Given the description of an element on the screen output the (x, y) to click on. 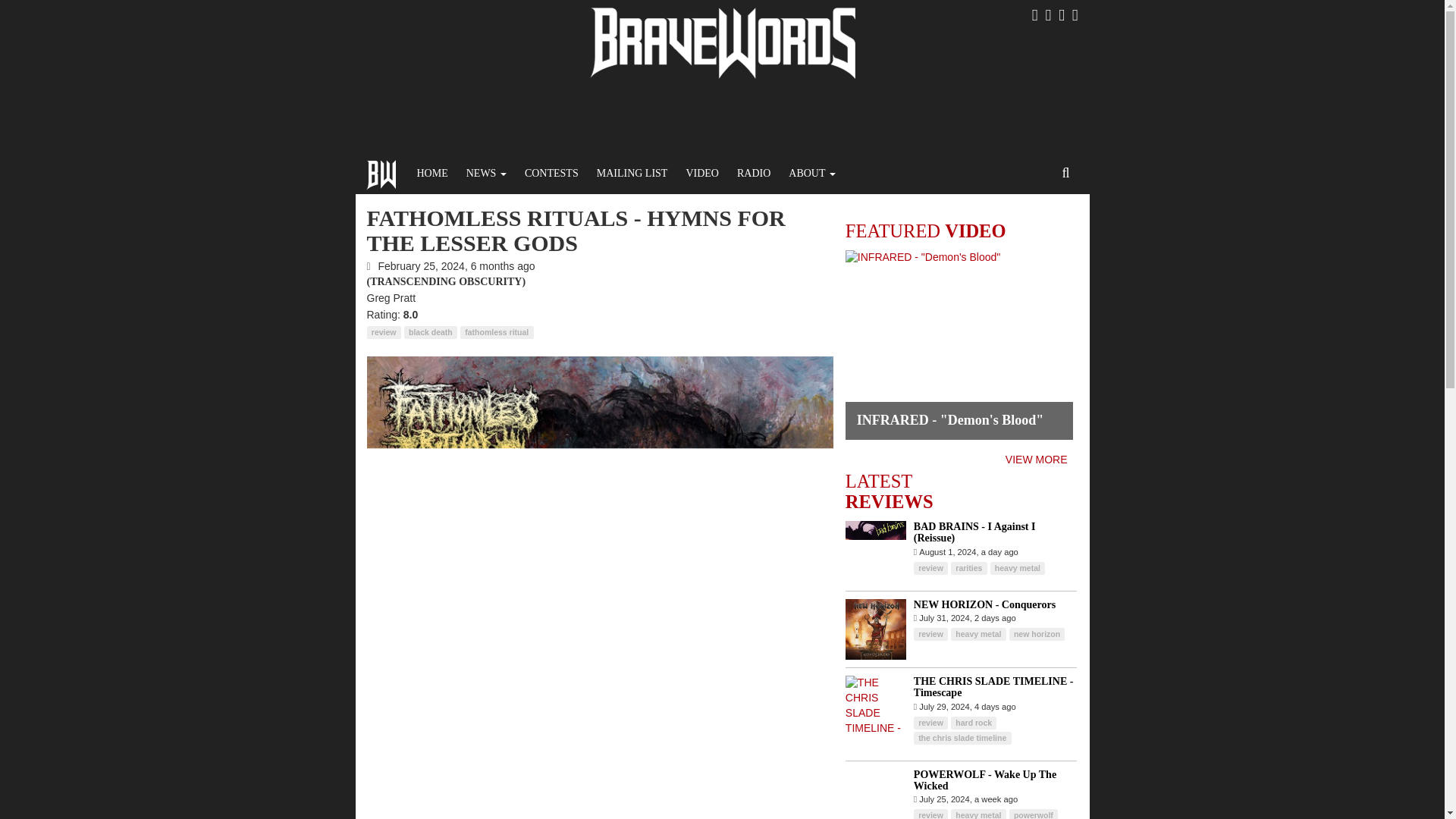
POWERWOLF - Wake Up The Wicked (985, 780)
HOME (432, 173)
RADIO (753, 173)
VIDEO (702, 173)
CONTESTS (551, 173)
ABOUT (811, 173)
NEW HORIZON - Conquerors (984, 604)
VIEW MORE (1036, 460)
THE CHRIS SLADE TIMELINE - Timescape (994, 686)
NEWS (486, 173)
MAILING LIST (632, 173)
